Given the description of an element on the screen output the (x, y) to click on. 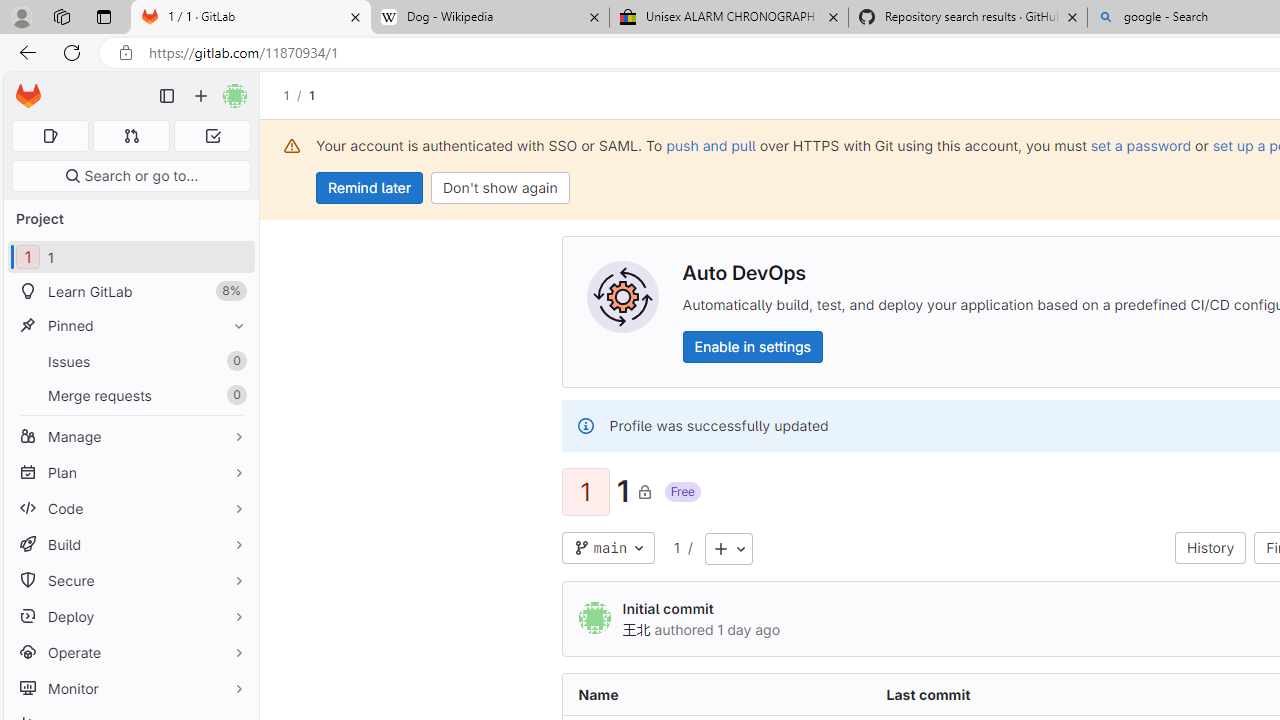
Secure (130, 579)
Monitor (130, 687)
Operate (130, 651)
Unpin Issues (234, 361)
Close tab (1072, 16)
Primary navigation sidebar (167, 96)
Name (715, 694)
